Given the description of an element on the screen output the (x, y) to click on. 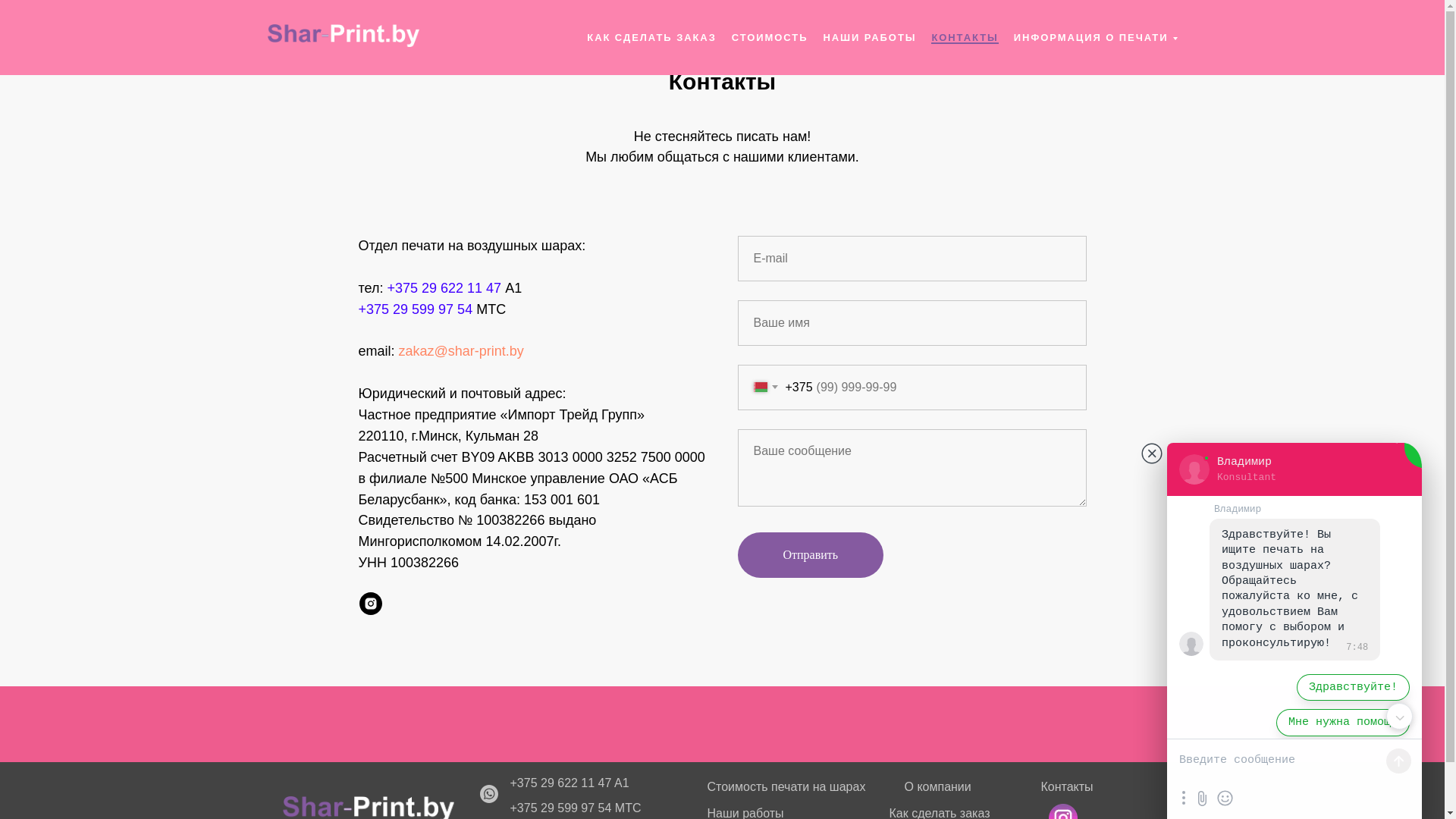
+375 29 599 97 54 Element type: text (414, 308)
+375 29 622 11 47 Element type: text (443, 287)
+375 29 622 11 47 A1 Element type: text (568, 782)
zakaz@shar-print.by Element type: text (461, 350)
+375 29 599 97 54 MTC Element type: text (574, 807)
